Given the description of an element on the screen output the (x, y) to click on. 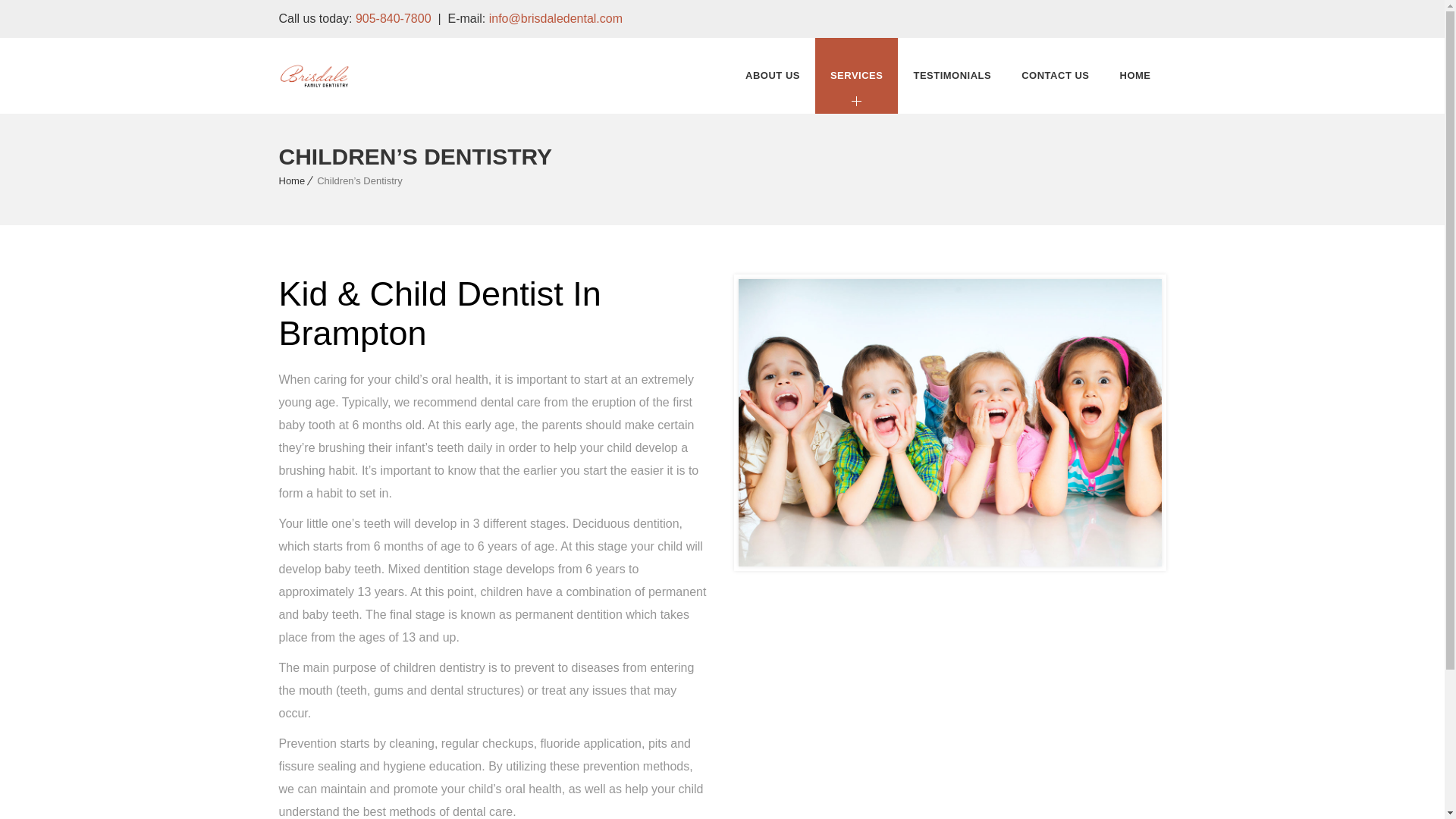
ABOUT US (772, 75)
TESTIMONIALS (952, 75)
Brisdale Dental (314, 75)
CONTACT US (1054, 75)
Home (292, 180)
905-840-7800 (392, 18)
SERVICES (856, 75)
